Given the description of an element on the screen output the (x, y) to click on. 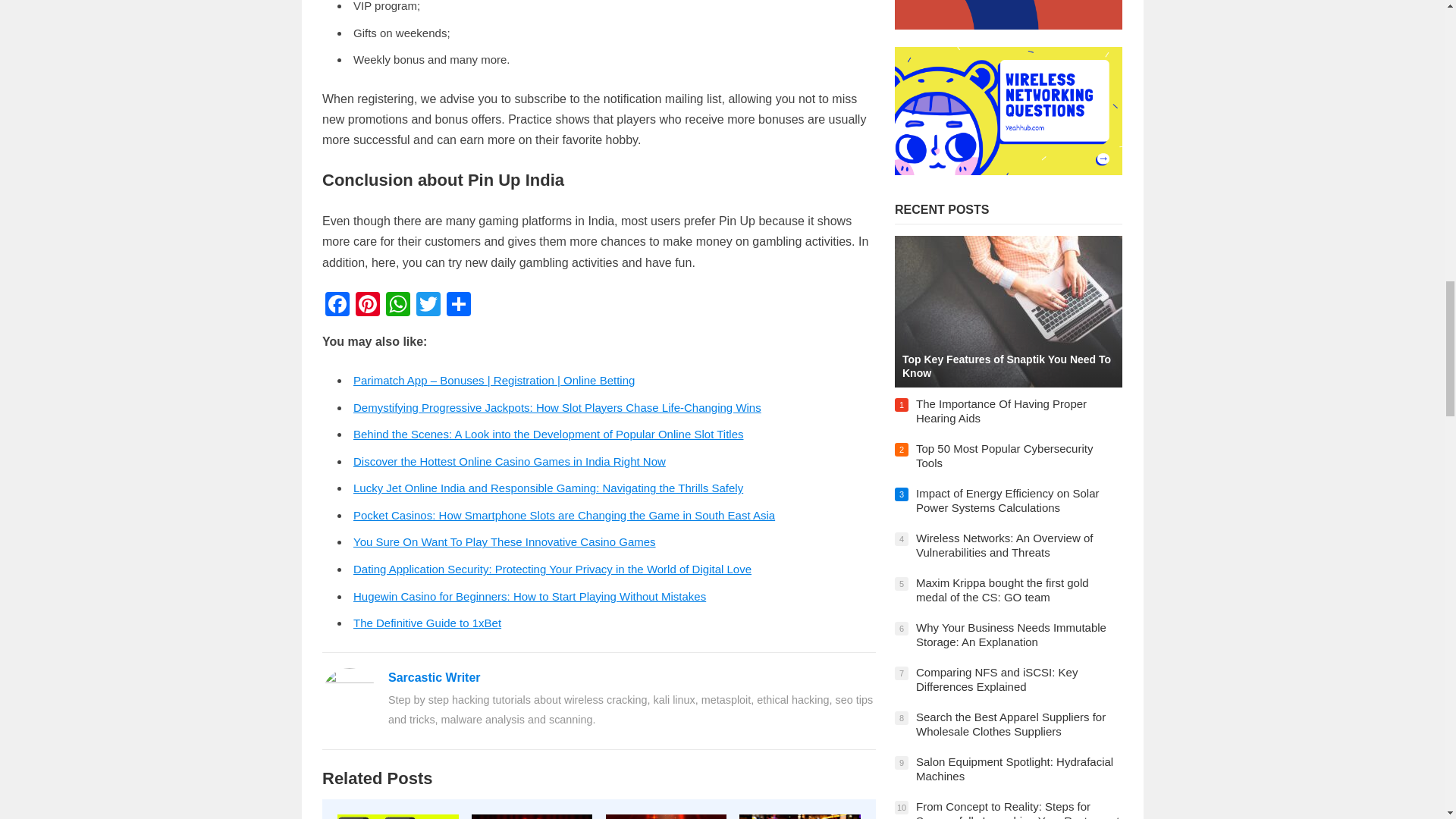
Pinterest (367, 305)
WhatsApp (397, 305)
Facebook (336, 305)
Twitter (428, 305)
